Given the description of an element on the screen output the (x, y) to click on. 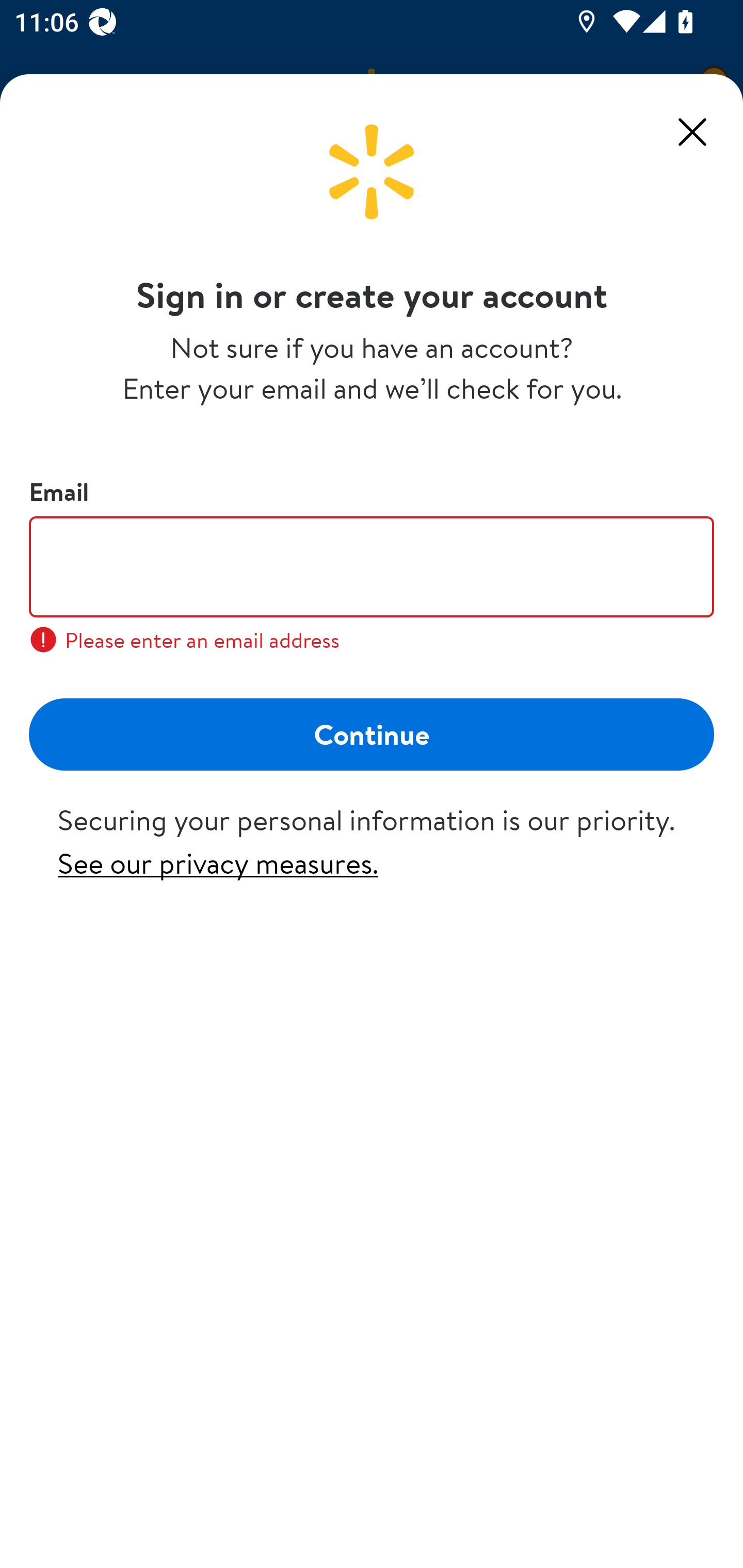
Close (692, 131)
Email (371, 566)
Continue (371, 733)
